Given the description of an element on the screen output the (x, y) to click on. 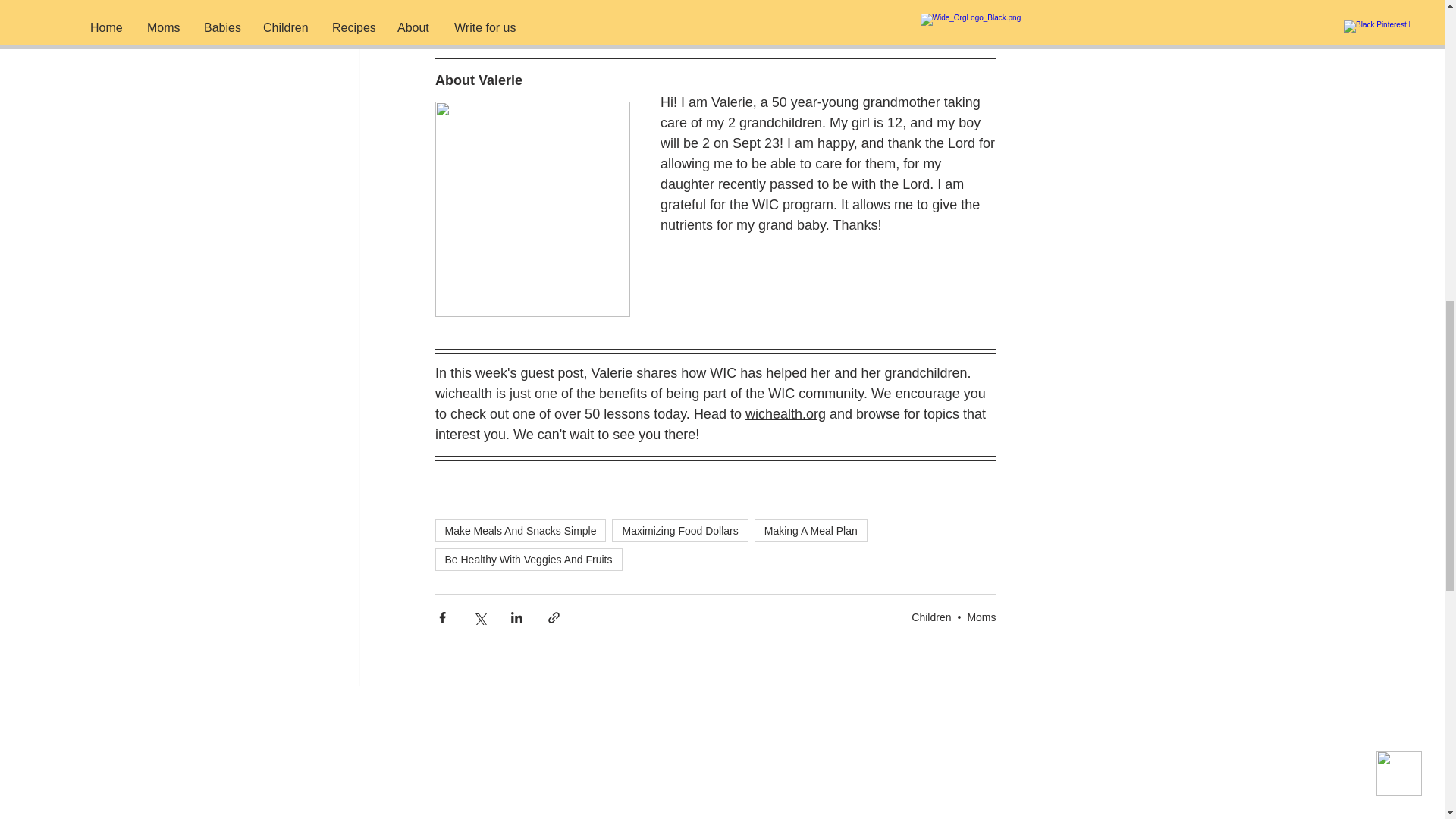
Make Meals And Snacks Simple (521, 530)
Moms (980, 616)
Making A Meal Plan (810, 530)
Maximizing Food Dollars (679, 530)
wichealth.org (784, 413)
Be Healthy With Veggies And Fruits (529, 558)
Children (930, 616)
